Given the description of an element on the screen output the (x, y) to click on. 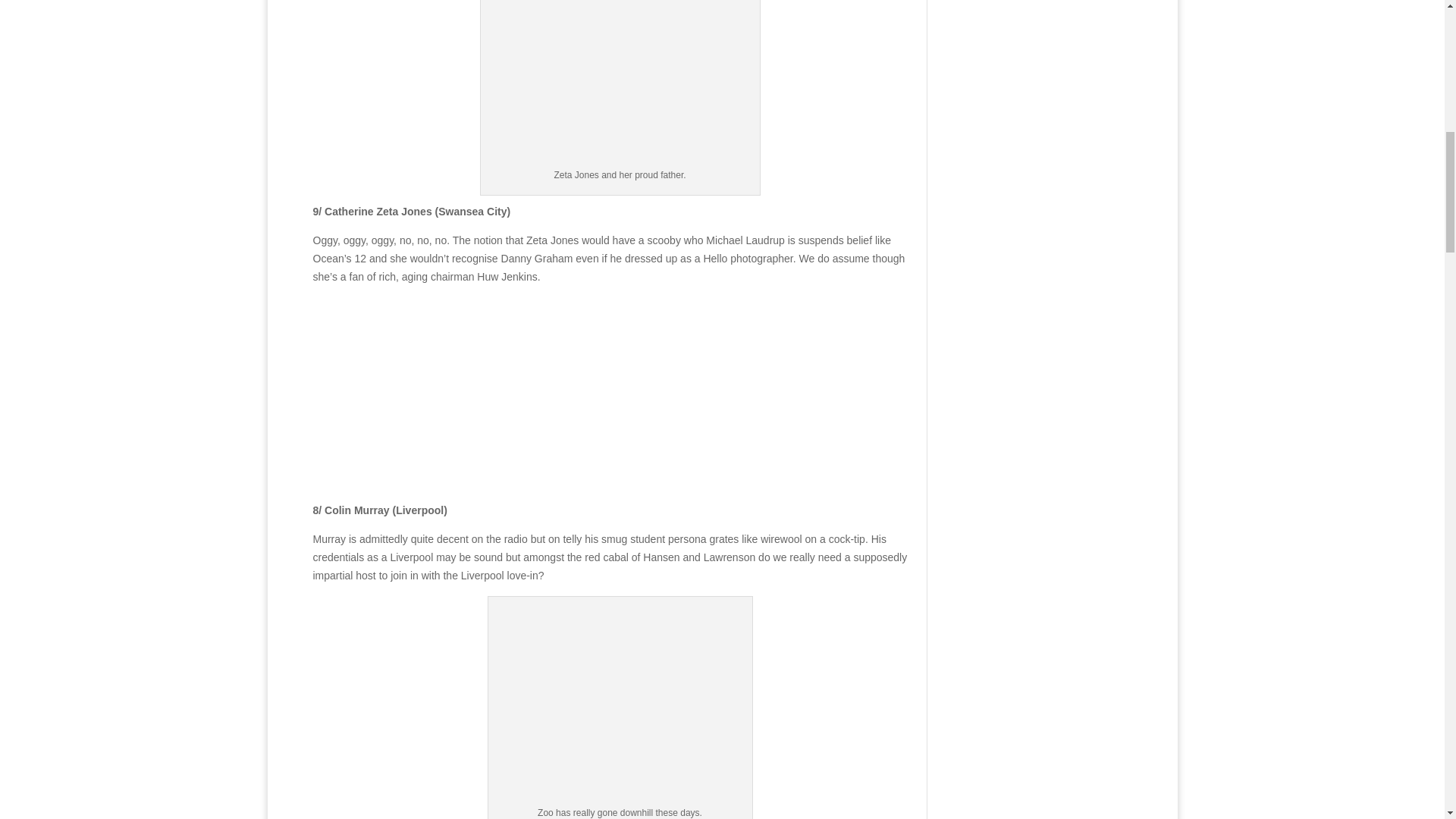
murray-e1348182434680 (620, 393)
